Given the description of an element on the screen output the (x, y) to click on. 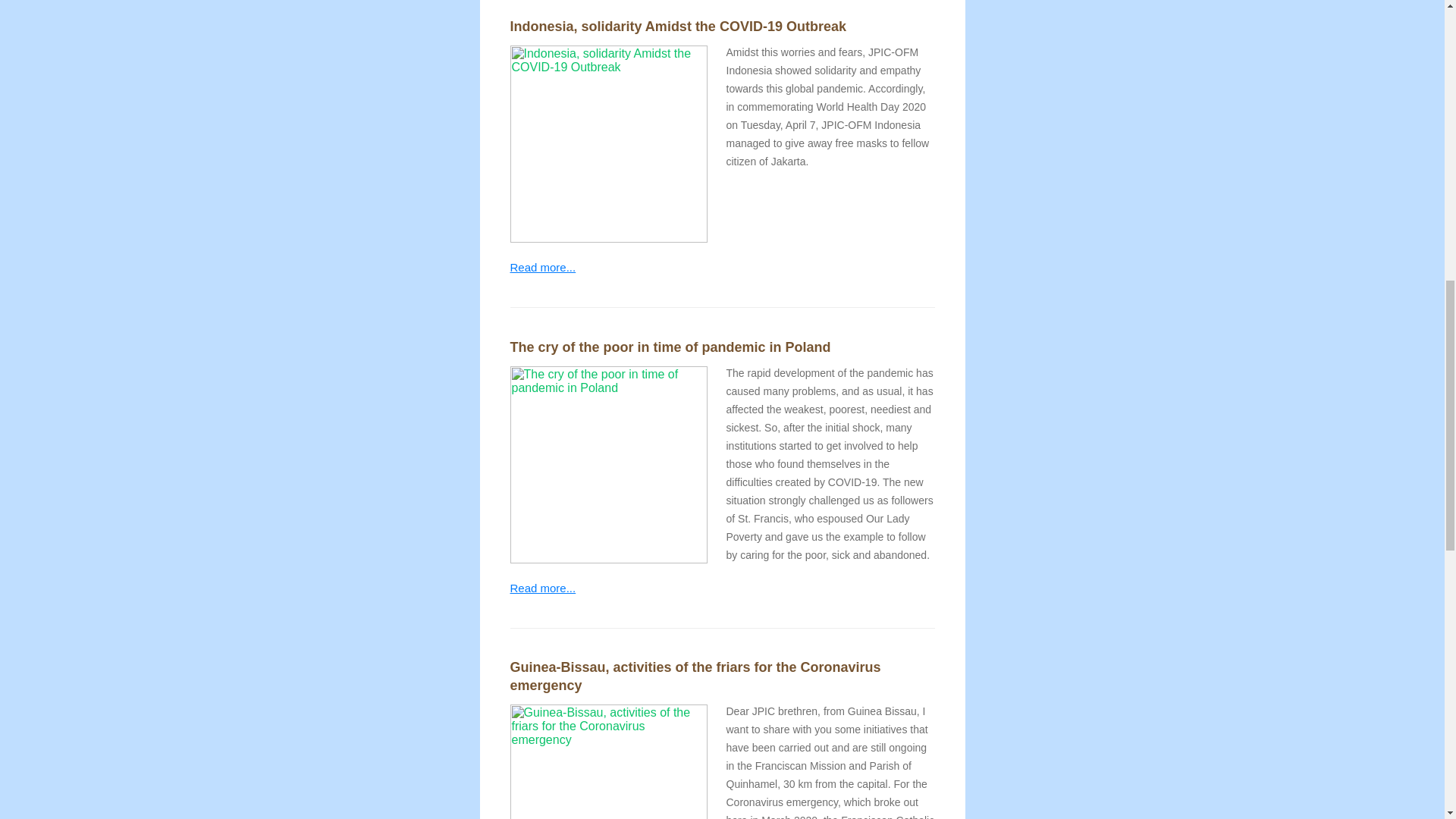
Read more... (542, 586)
Read more... (542, 267)
The cry of the poor in time of pandemic in Poland (669, 346)
Indonesia, solidarity Amidst the COVID-19 Outbreak (677, 26)
